Given the description of an element on the screen output the (x, y) to click on. 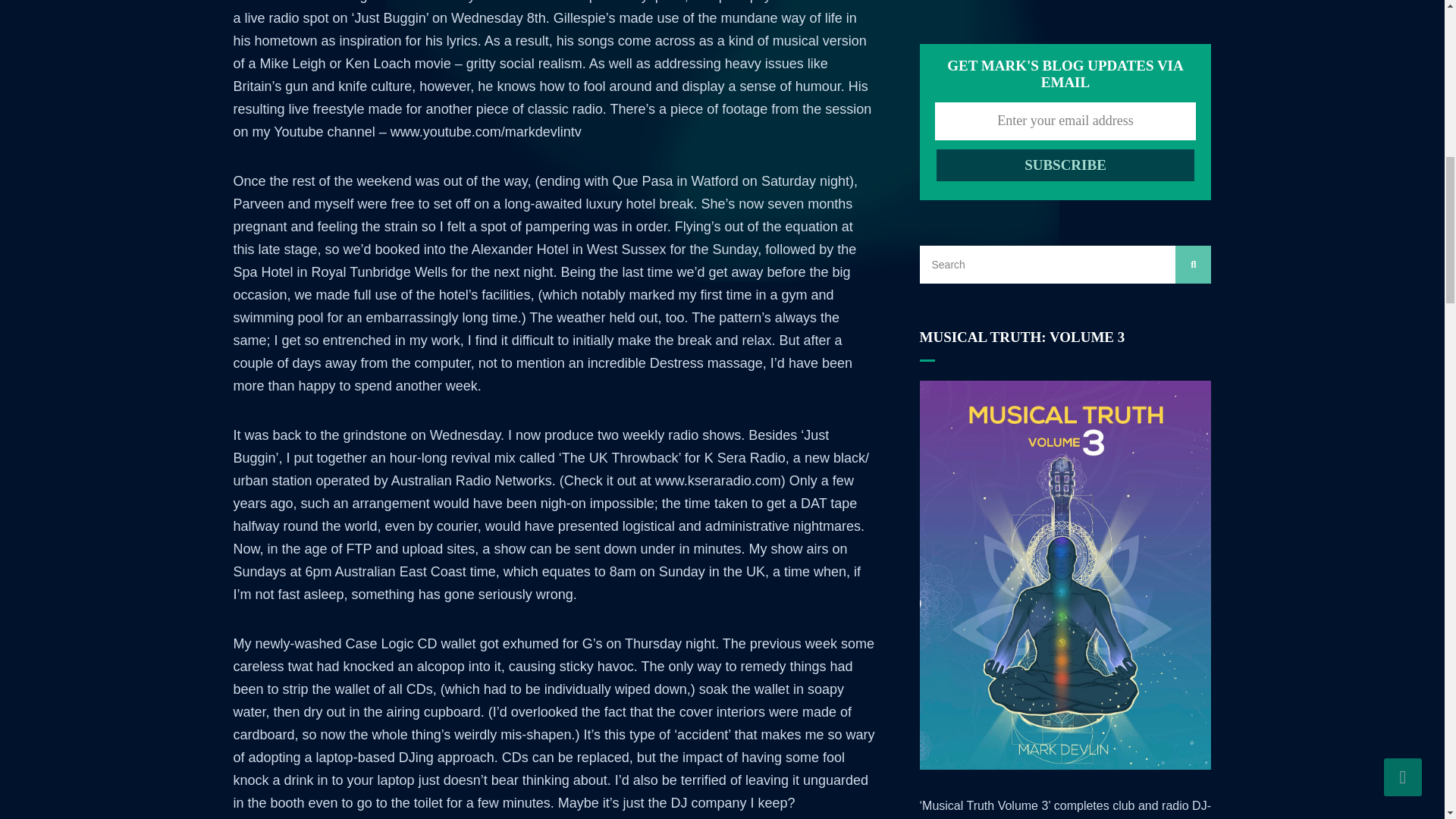
SUBSCRIBE (1064, 165)
